Given the description of an element on the screen output the (x, y) to click on. 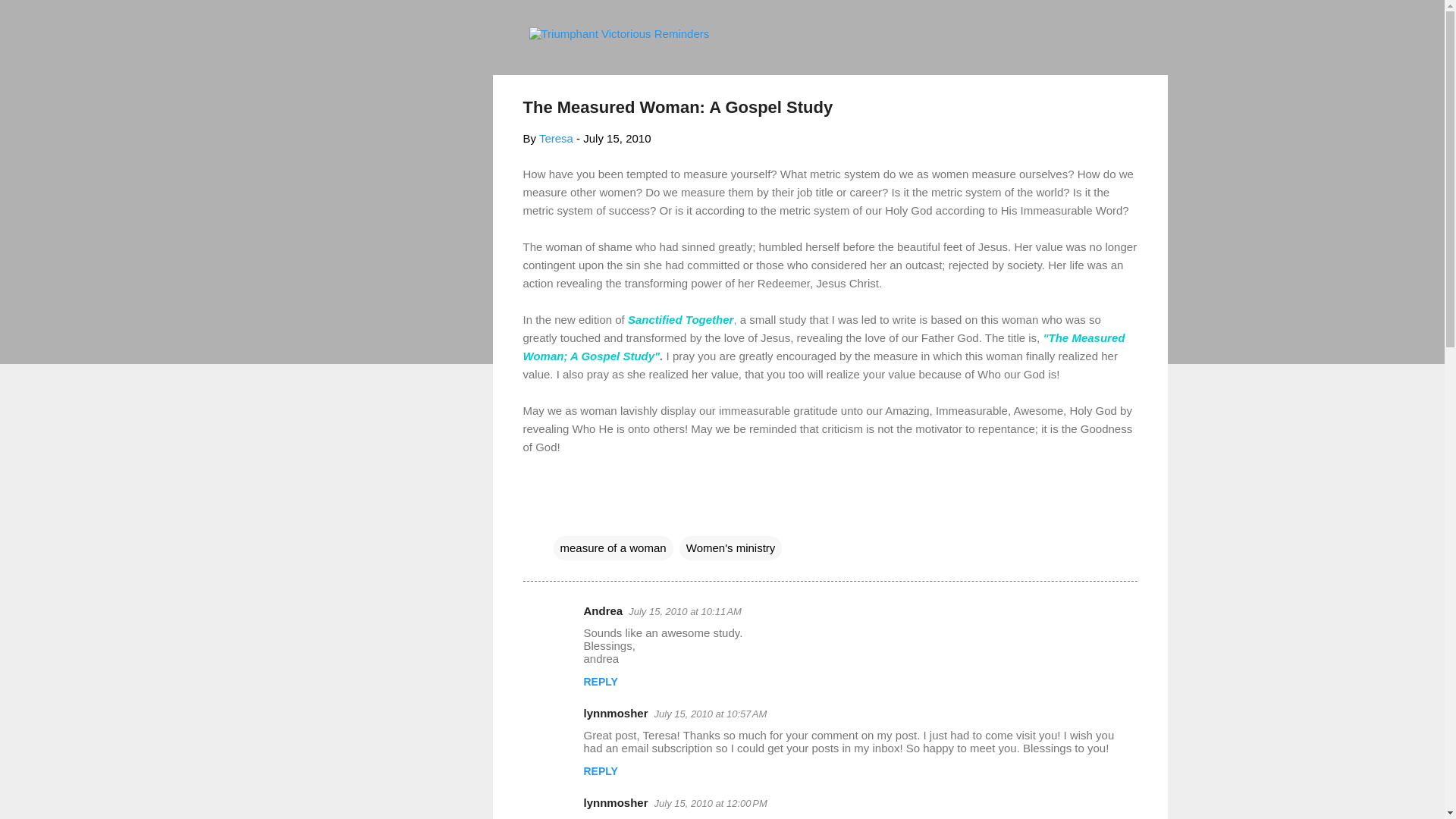
measure of a woman (612, 547)
Teresa (555, 137)
permanent link (616, 137)
Women's ministry (731, 547)
lynnmosher (615, 712)
Email Post (562, 517)
July 15, 2010 (616, 137)
REPLY (600, 681)
Andrea (603, 610)
author profile (555, 137)
lynnmosher (615, 802)
Search (29, 18)
